Given the description of an element on the screen output the (x, y) to click on. 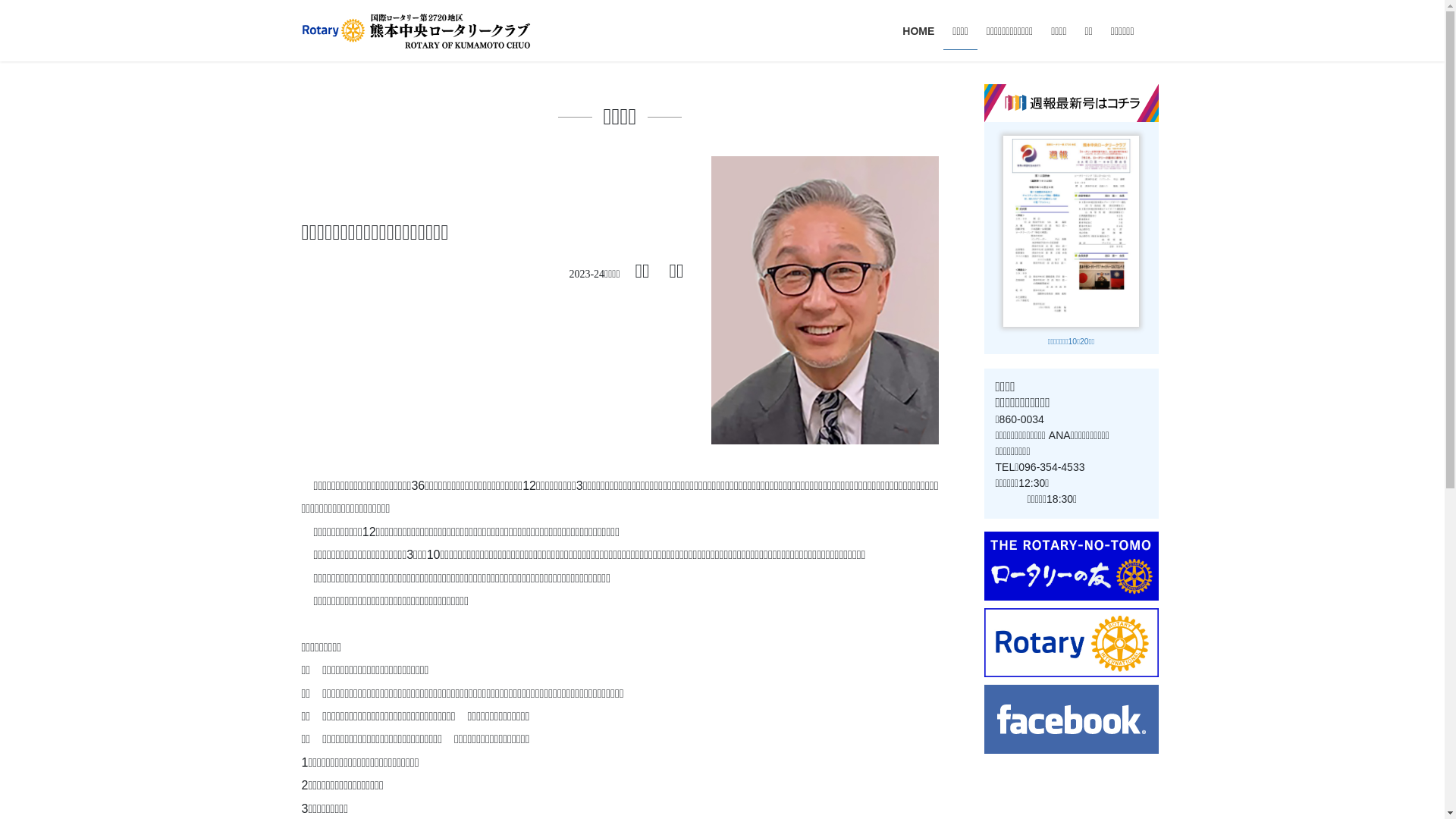
HOME Element type: text (918, 31)
R510.20 Element type: hover (1071, 229)
